Given the description of an element on the screen output the (x, y) to click on. 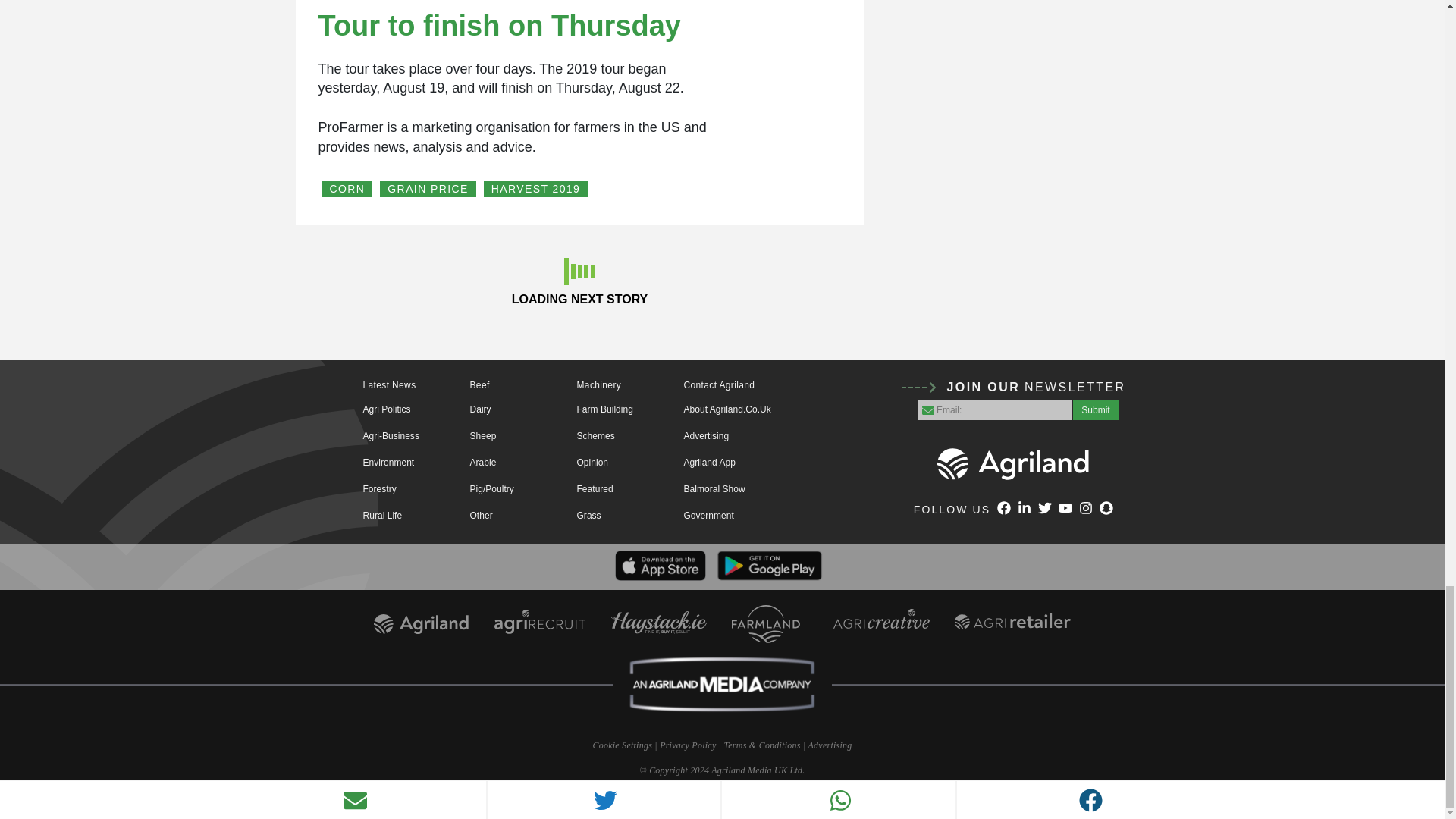
Link to Snap Chat (1106, 509)
Link to Instagram (1085, 509)
Link to Twitter (1044, 509)
Link to Facebook (1003, 509)
Link to You Tube (1064, 509)
Link to Linked In (1023, 509)
